Given the description of an element on the screen output the (x, y) to click on. 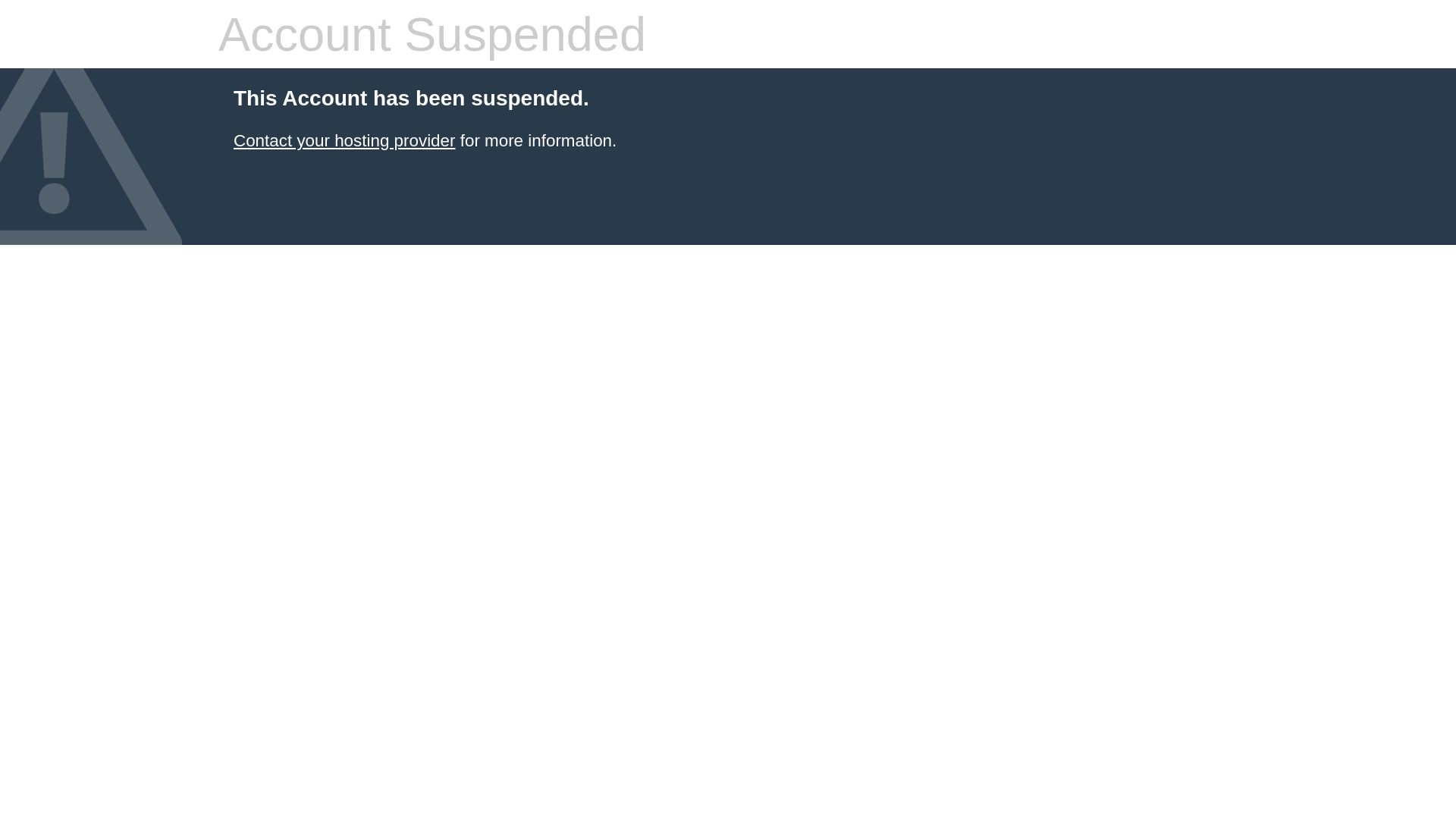
Contact your hosting provider Element type: text (344, 140)
